Given the description of an element on the screen output the (x, y) to click on. 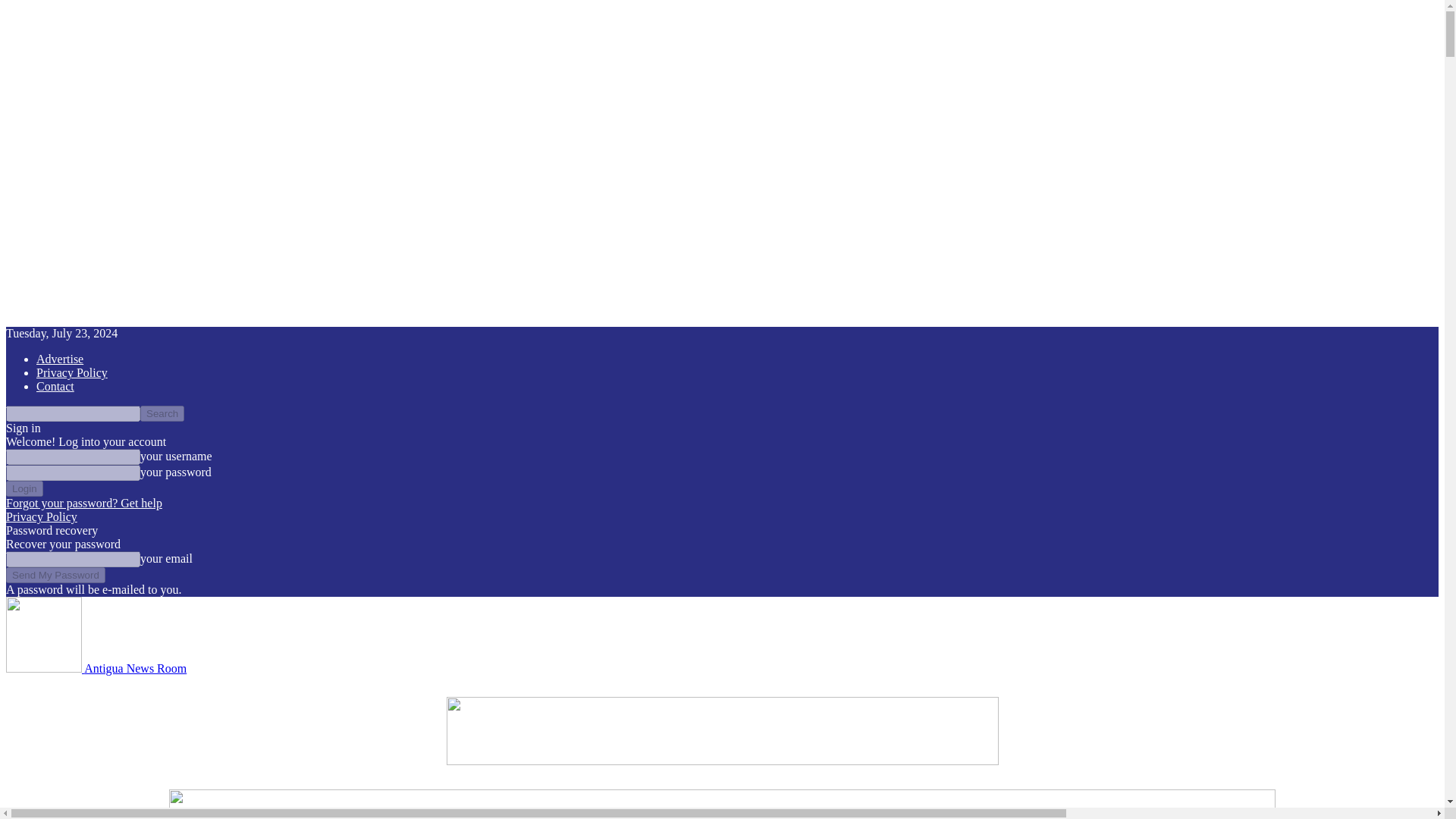
Search (161, 413)
Login (24, 488)
Send My Password (54, 575)
Privacy Policy (71, 372)
Advertise (59, 358)
Forgot your password? Get help (83, 502)
Antigua News Room (95, 667)
Search (161, 413)
Privacy Policy (41, 516)
Contact (55, 386)
